Given the description of an element on the screen output the (x, y) to click on. 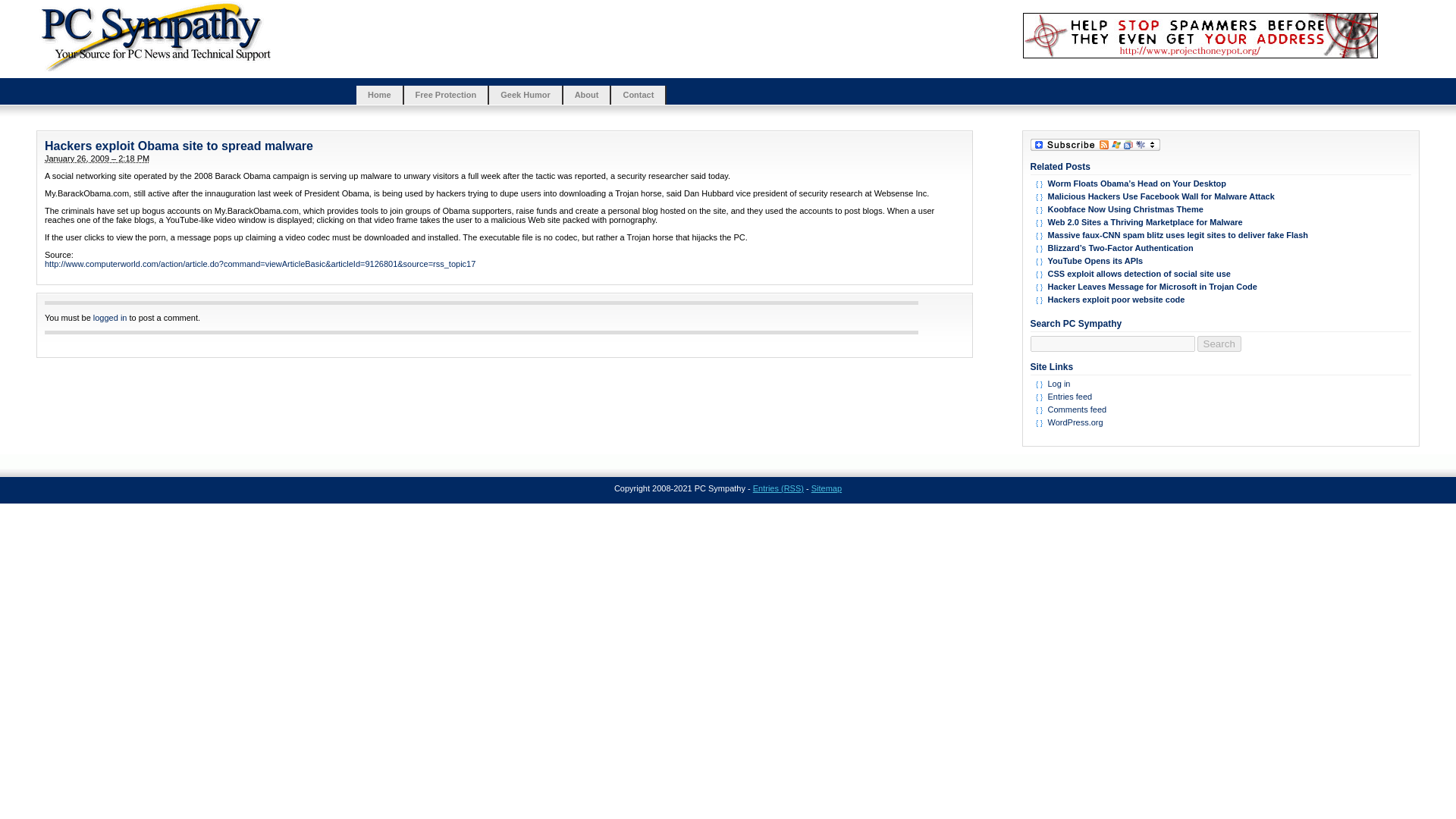
2009-01-26T14:18:11-0600 (97, 157)
Log in (1059, 383)
Malicious Hackers Use Facebook Wall for Malware Attack (1161, 195)
Geek Humor (524, 94)
WordPress.org (1075, 421)
Comments feed (1077, 409)
Hackers exploit poor website code (1116, 298)
YouTube Opens its APIs (1095, 260)
Sitemap (825, 488)
CSS exploit allows detection of social site use (1139, 273)
About (586, 94)
Hacker Leaves Message for Microsoft in Trojan Code (1152, 286)
Web 2.0 Sites a Thriving Marketplace for Malware (1145, 221)
Koobface Now Using Christmas Theme (1126, 208)
